Given the description of an element on the screen output the (x, y) to click on. 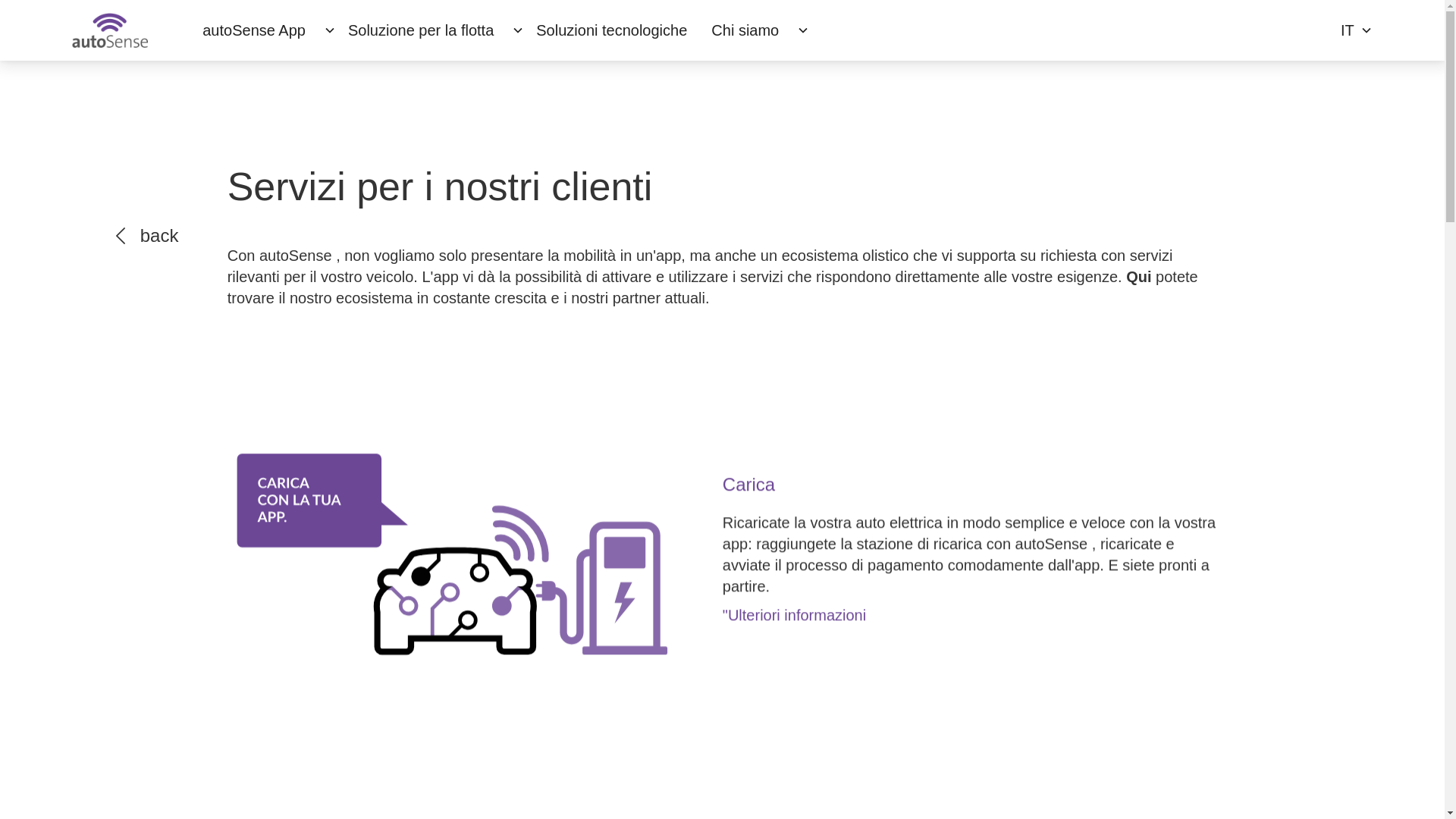
"Ulteriori informazioni Element type: text (969, 615)
back Element type: text (146, 235)
Soluzioni tecnologiche Element type: text (611, 30)
